Given the description of an element on the screen output the (x, y) to click on. 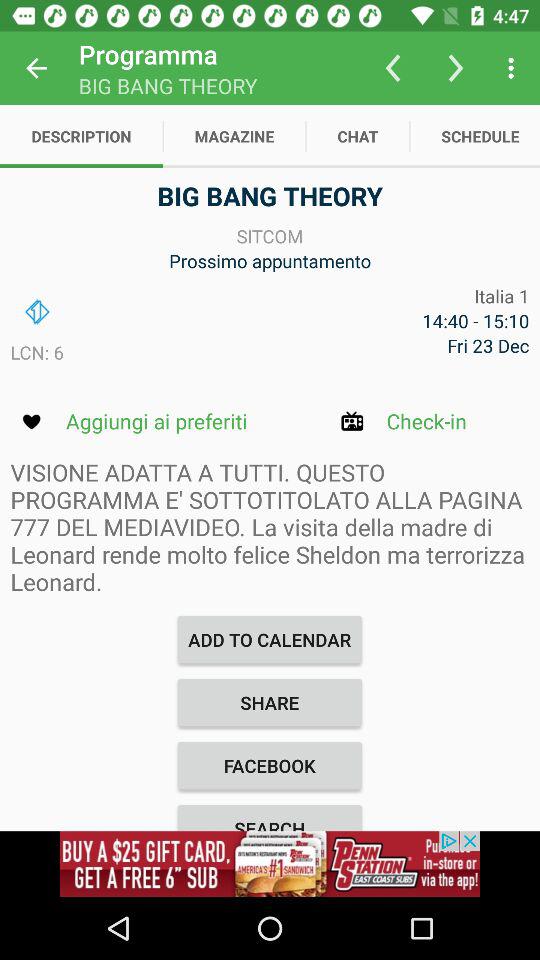
see advertisement (270, 864)
